Given the description of an element on the screen output the (x, y) to click on. 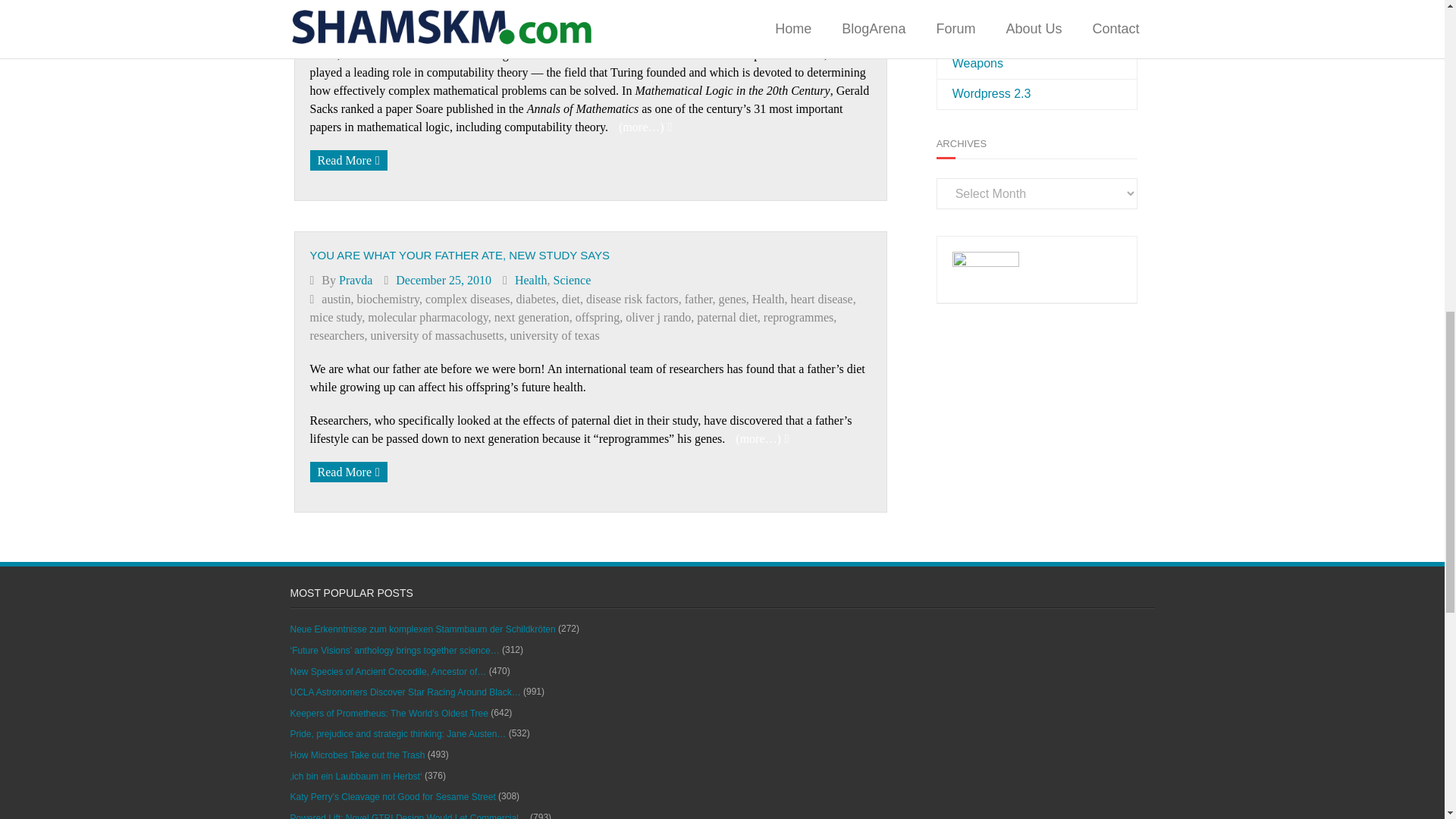
You Are What Your Father Ate, New Study Says (444, 279)
Permalink to You Are What Your Father Ate, New Study Says (459, 254)
View all posts by Pravda (355, 279)
